Given the description of an element on the screen output the (x, y) to click on. 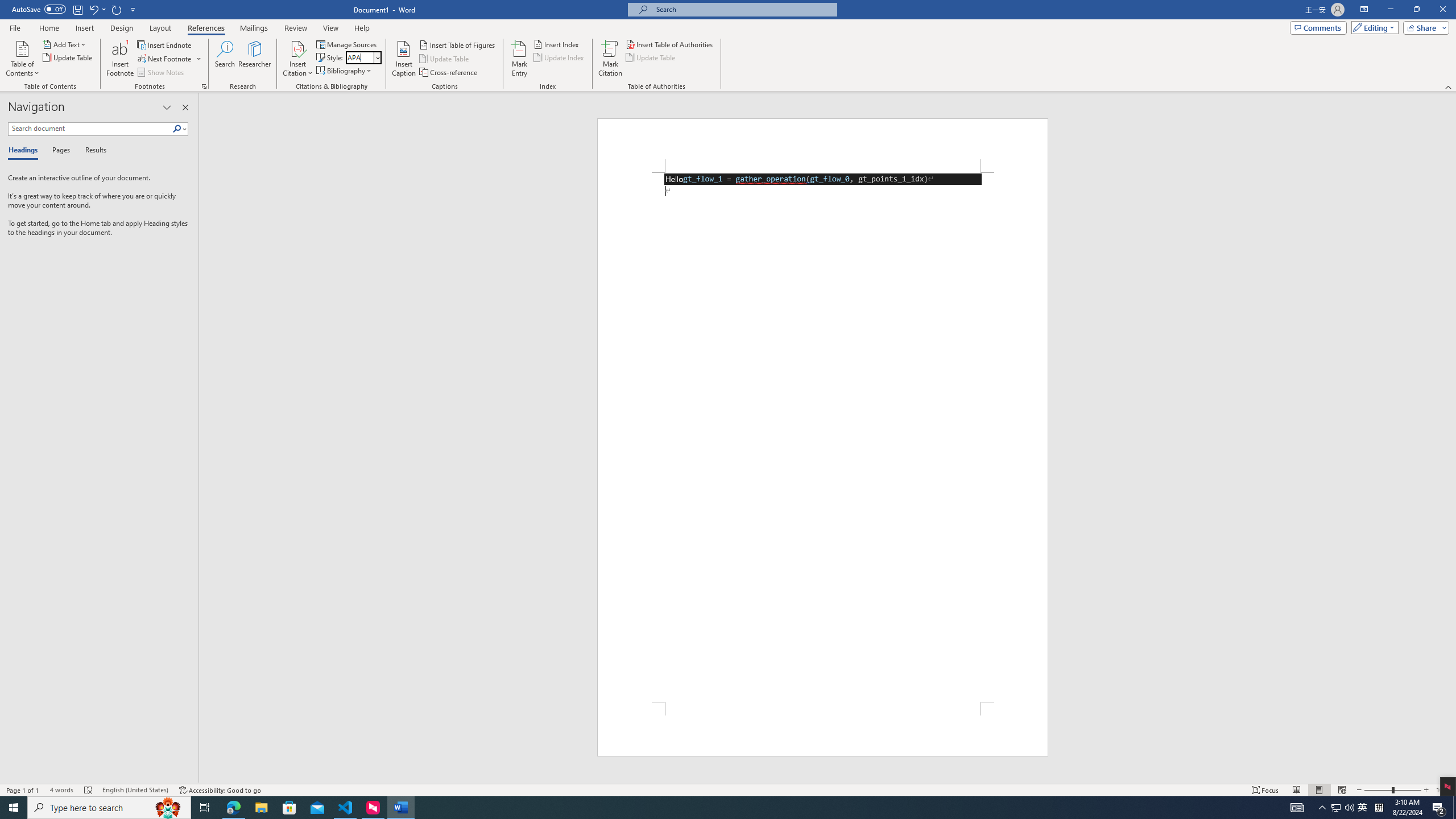
Design (122, 28)
Class: MsoCommandBar (728, 789)
System (6, 6)
Review (295, 28)
Accessibility Checker Accessibility: Good to go (220, 790)
Print Layout (1318, 790)
Mark Citation... (610, 58)
Zoom In (1426, 790)
Layout (160, 28)
Home (48, 28)
Mark Entry... (519, 58)
Style (363, 56)
Mode (1372, 27)
Update Index (559, 56)
